Given the description of an element on the screen output the (x, y) to click on. 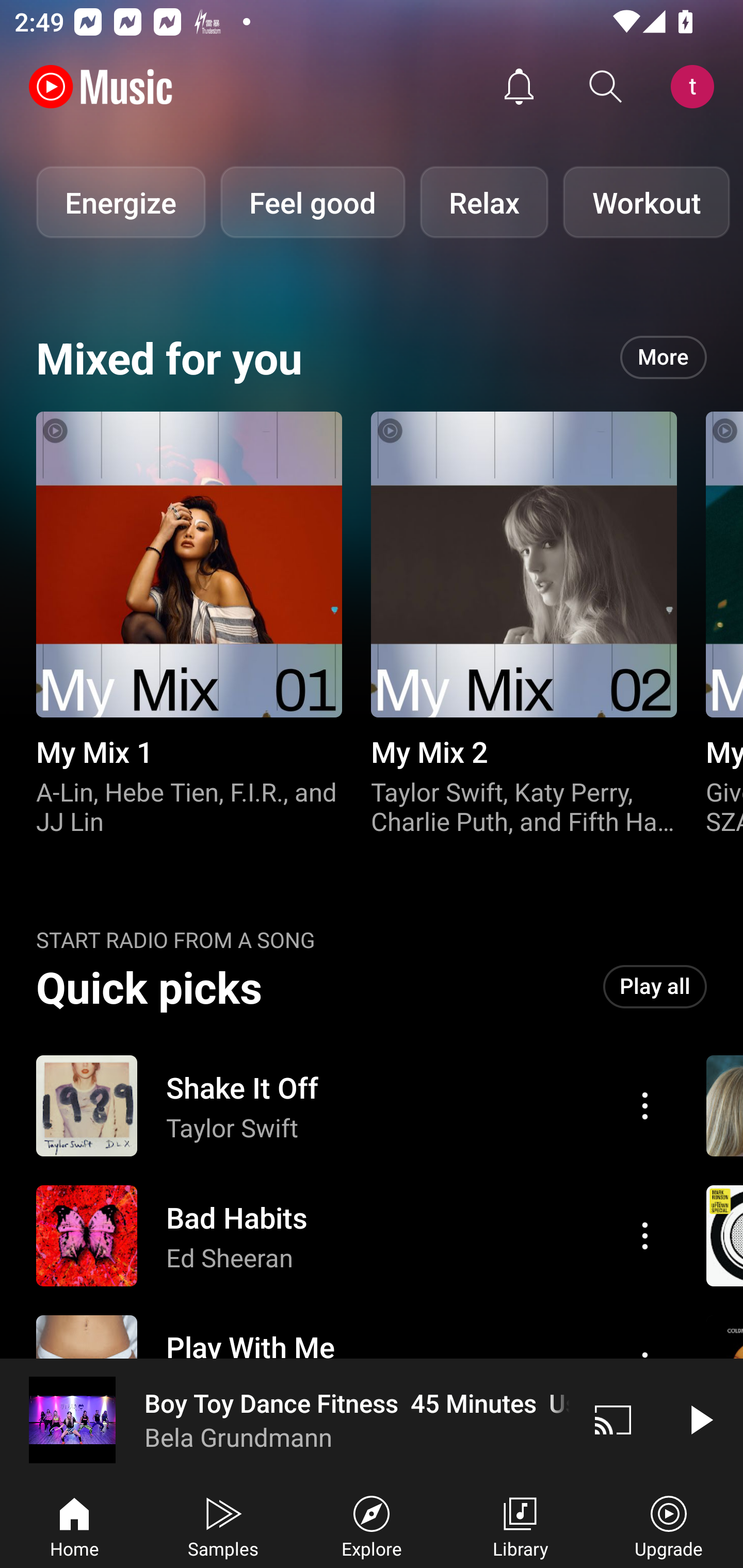
Activity feed (518, 86)
Search (605, 86)
Account (696, 86)
Action menu (349, 1106)
Action menu (644, 1106)
Action menu (349, 1236)
Action menu (644, 1235)
Cast. Disconnected (612, 1419)
Play video (699, 1419)
Home (74, 1524)
Samples (222, 1524)
Explore (371, 1524)
Library (519, 1524)
Upgrade (668, 1524)
